Given the description of an element on the screen output the (x, y) to click on. 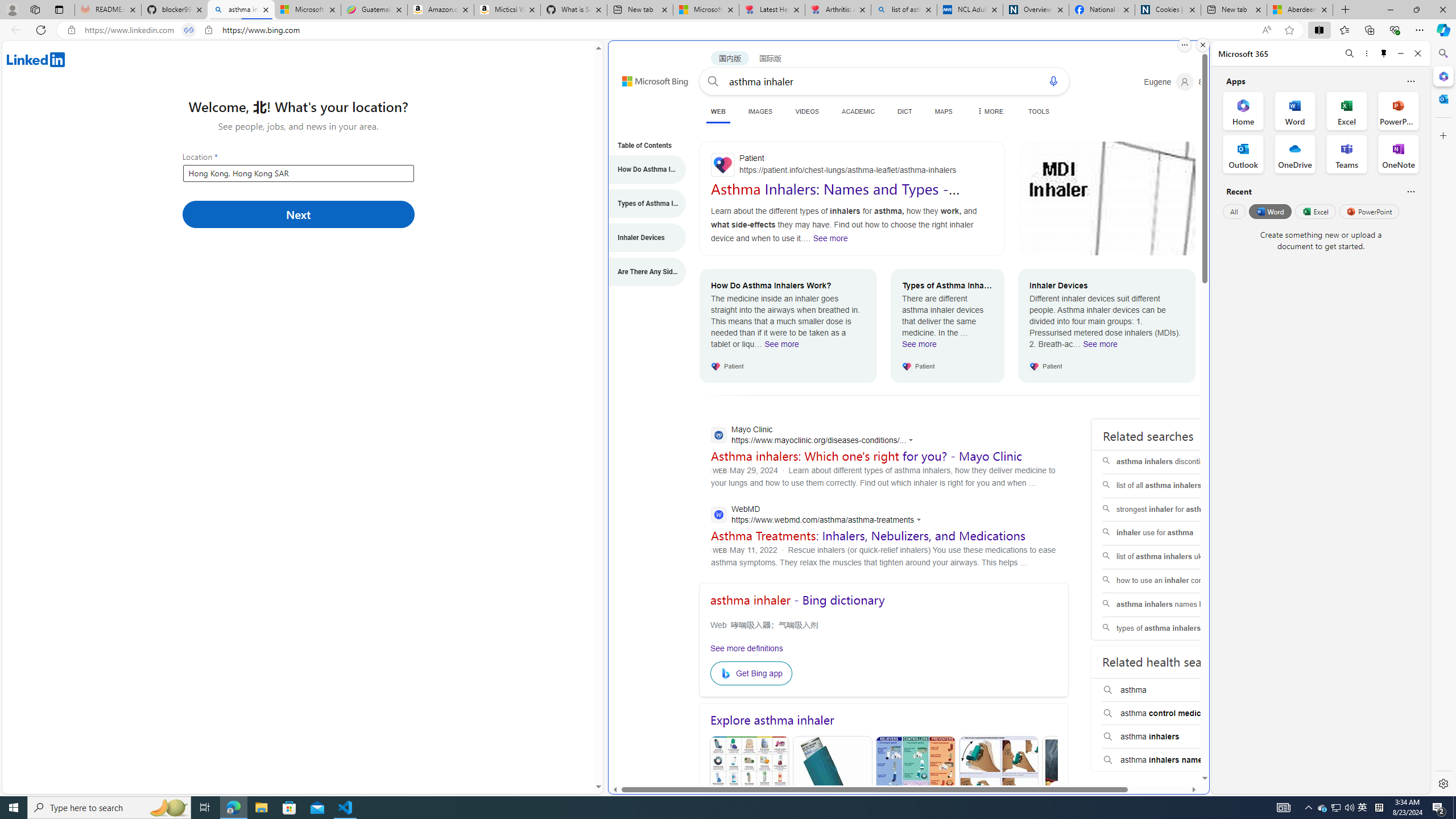
strongest inhaler for asthma (1174, 509)
Get Bing app (751, 673)
